Given the description of an element on the screen output the (x, y) to click on. 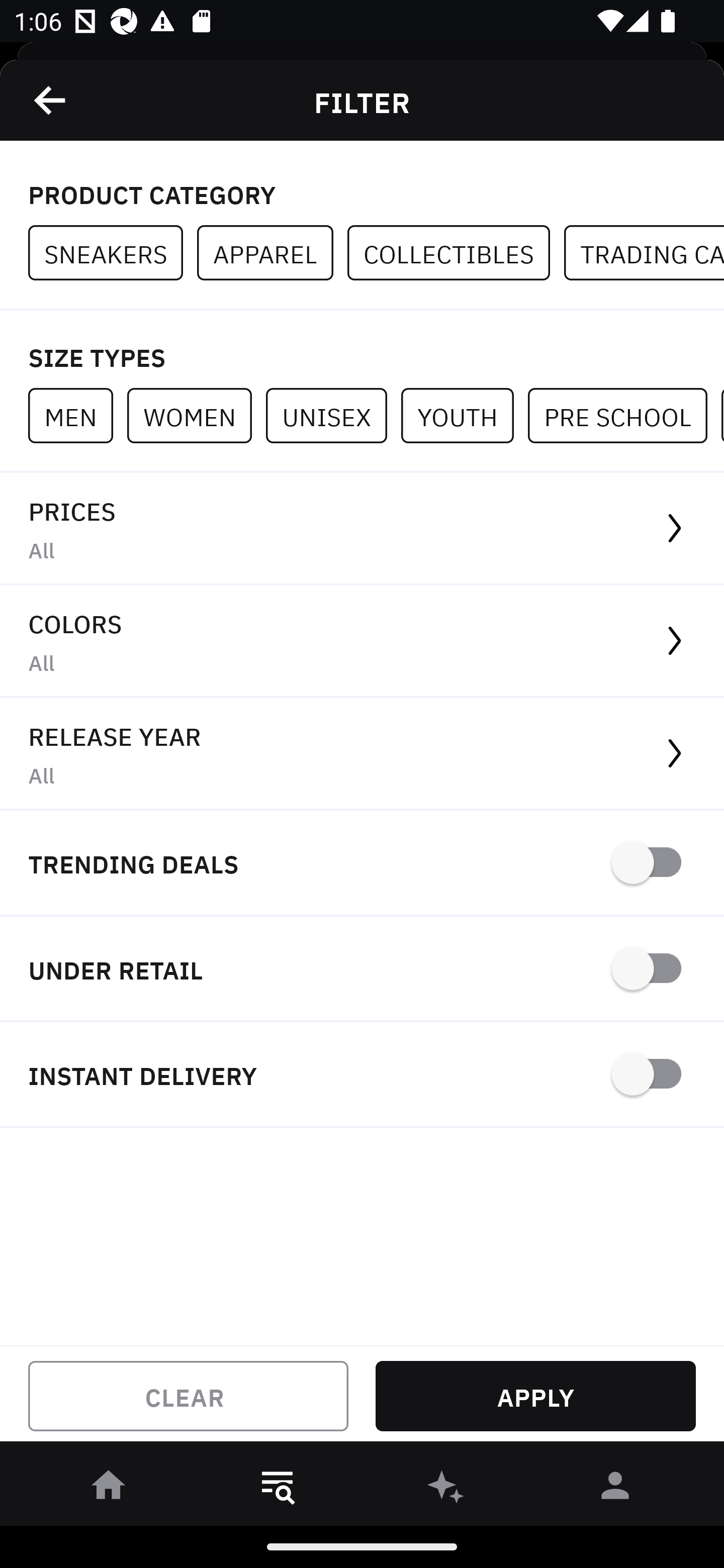
 (50, 100)
SNEAKERS (112, 252)
APPAREL (271, 252)
COLLECTIBLES (455, 252)
TRADING CARDS (643, 252)
MEN (77, 415)
WOMEN (196, 415)
UNISEX (333, 415)
YOUTH (464, 415)
PRE SCHOOL (624, 415)
PRICES All (362, 528)
COLORS All (362, 640)
RELEASE YEAR All (362, 753)
TRENDING DEALS (362, 863)
UNDER RETAIL (362, 969)
INSTANT DELIVERY (362, 1075)
CLEAR  (188, 1396)
APPLY (535, 1396)
󰋜 (108, 1488)
󱎸 (277, 1488)
󰫢 (446, 1488)
󰀄 (615, 1488)
